Given the description of an element on the screen output the (x, y) to click on. 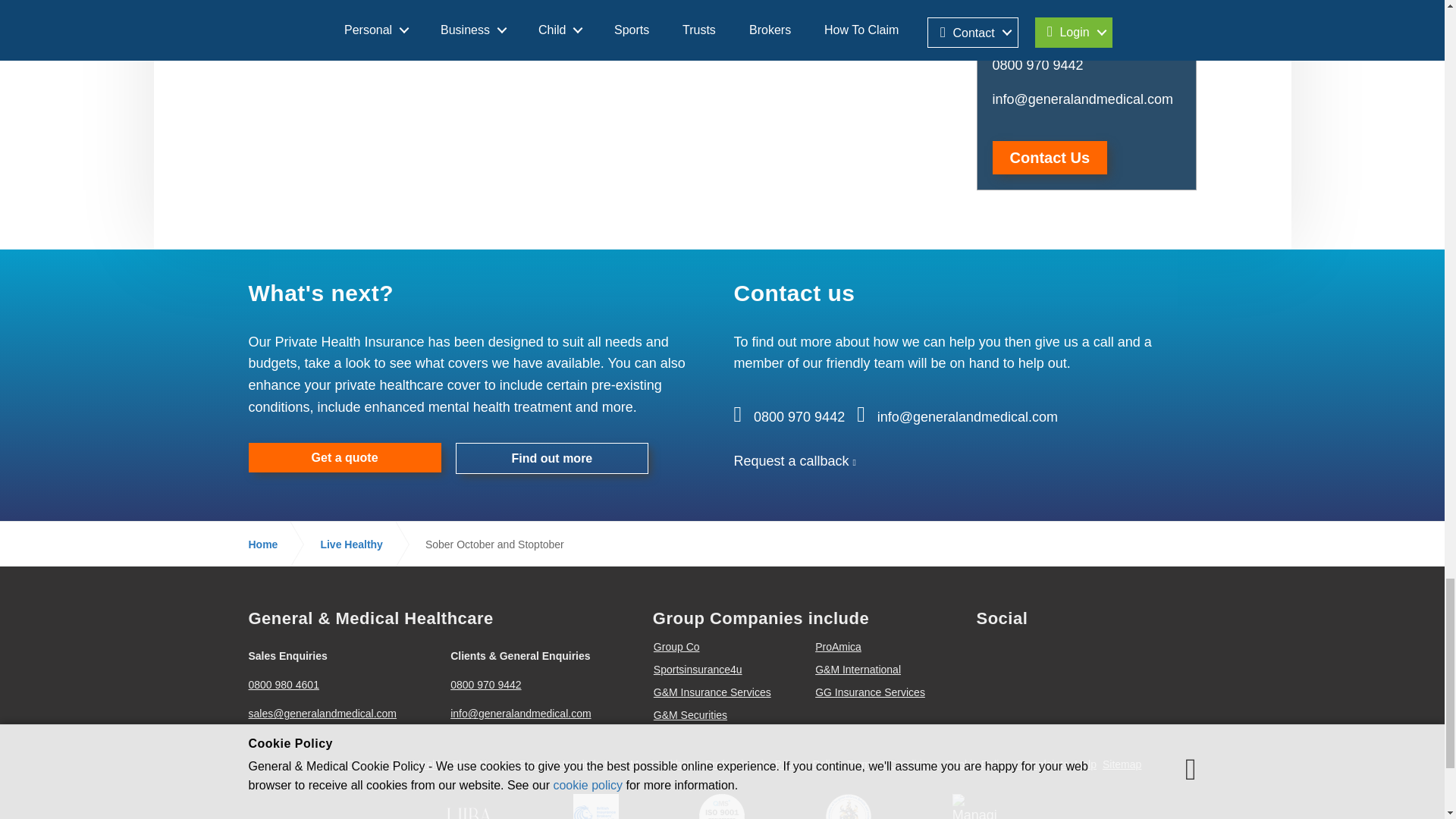
Older (275, 22)
All posts (560, 22)
Newer (845, 22)
